Given the description of an element on the screen output the (x, y) to click on. 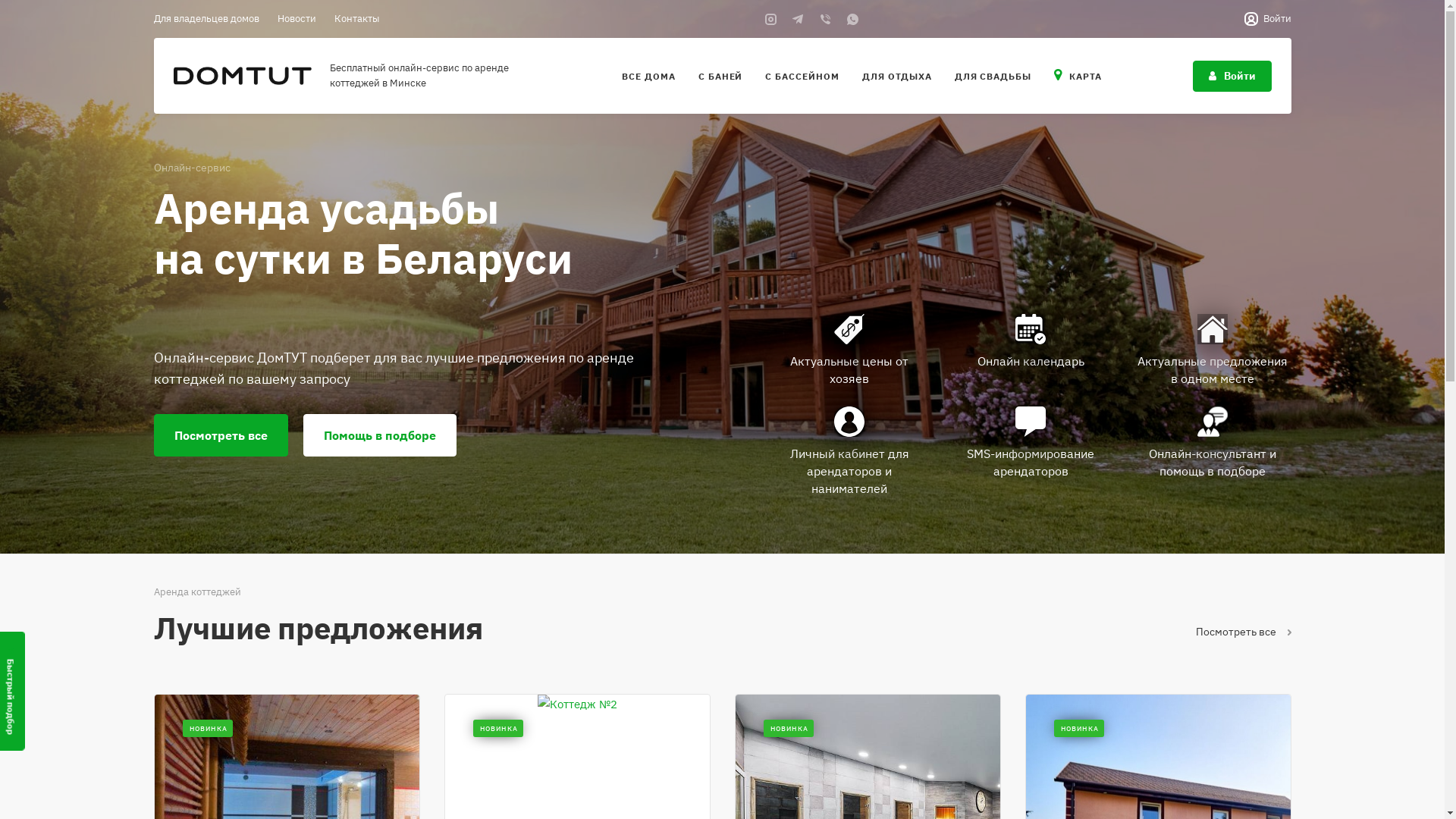
Viber Element type: hover (824, 18)
Telegram Element type: hover (797, 18)
Instagram Element type: hover (770, 18)
Whats App Element type: hover (851, 18)
